Given the description of an element on the screen output the (x, y) to click on. 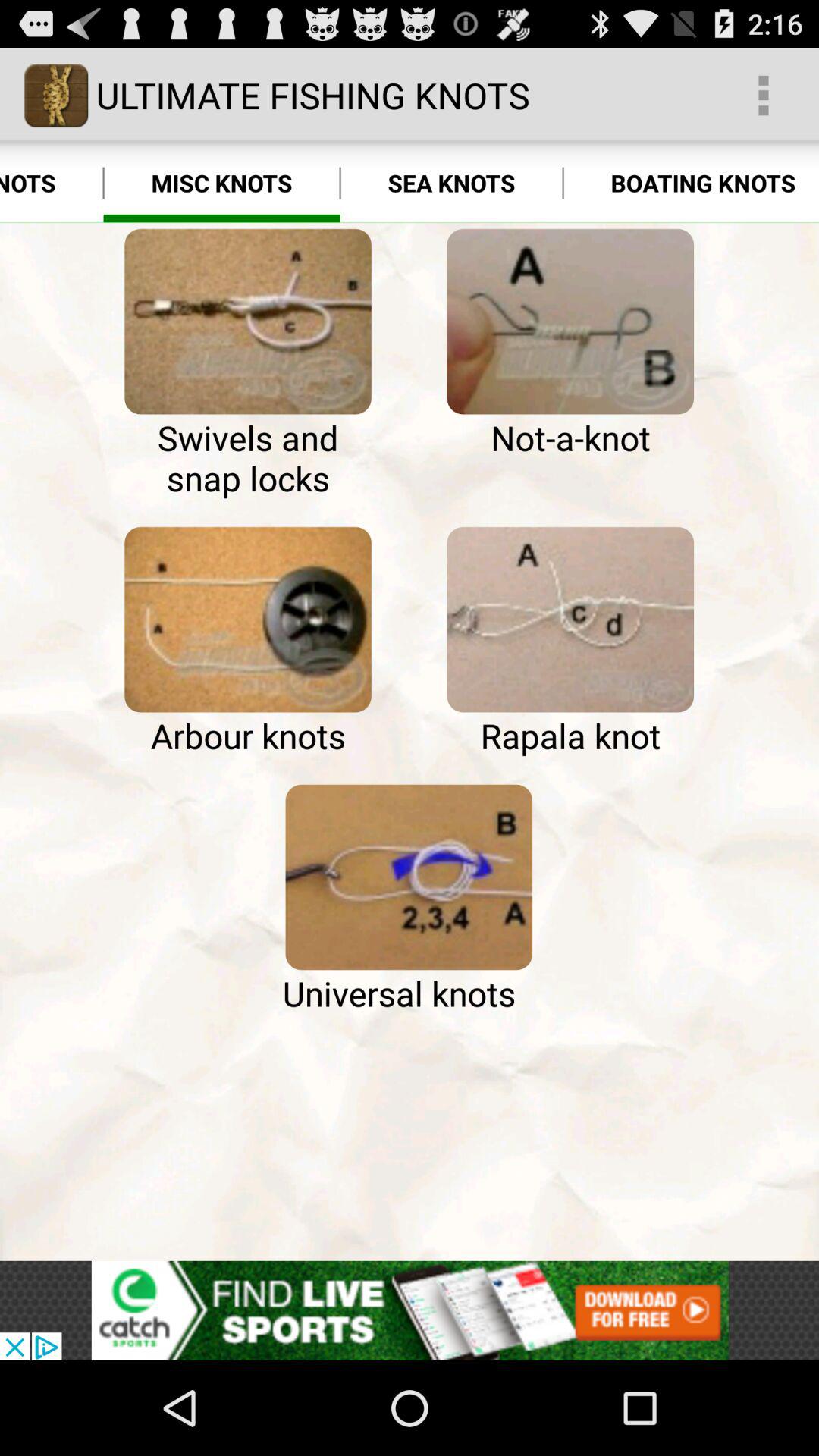
click the rapala knot (570, 619)
